Given the description of an element on the screen output the (x, y) to click on. 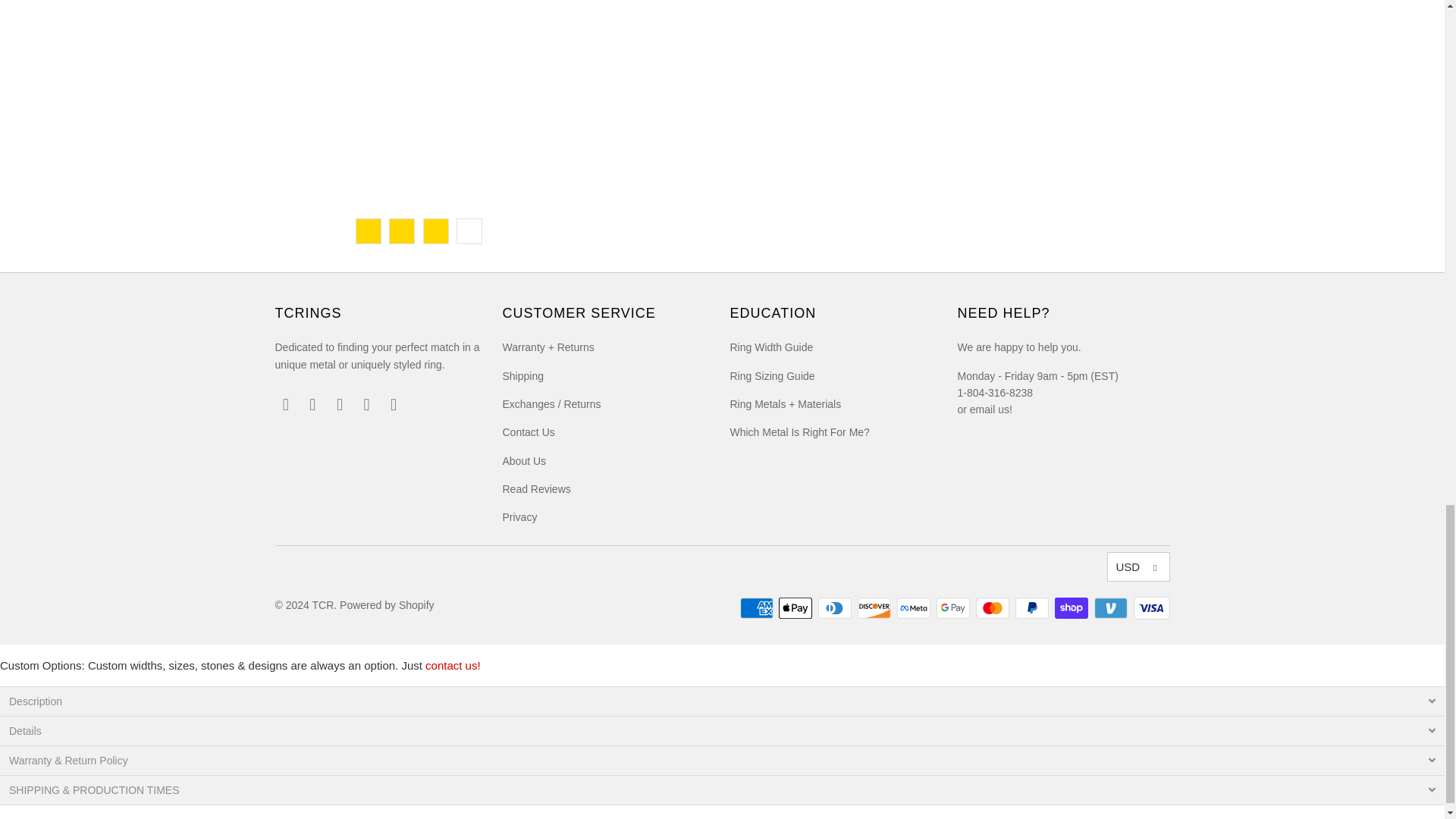
Mastercard (993, 608)
Meta Pay (914, 608)
Diners Club (836, 608)
Shop Pay (1072, 608)
Apple Pay (796, 608)
Visa (1150, 608)
American Express (757, 608)
Venmo (1112, 608)
Discover (875, 608)
Google Pay (954, 608)
PayPal (1032, 608)
